Given the description of an element on the screen output the (x, y) to click on. 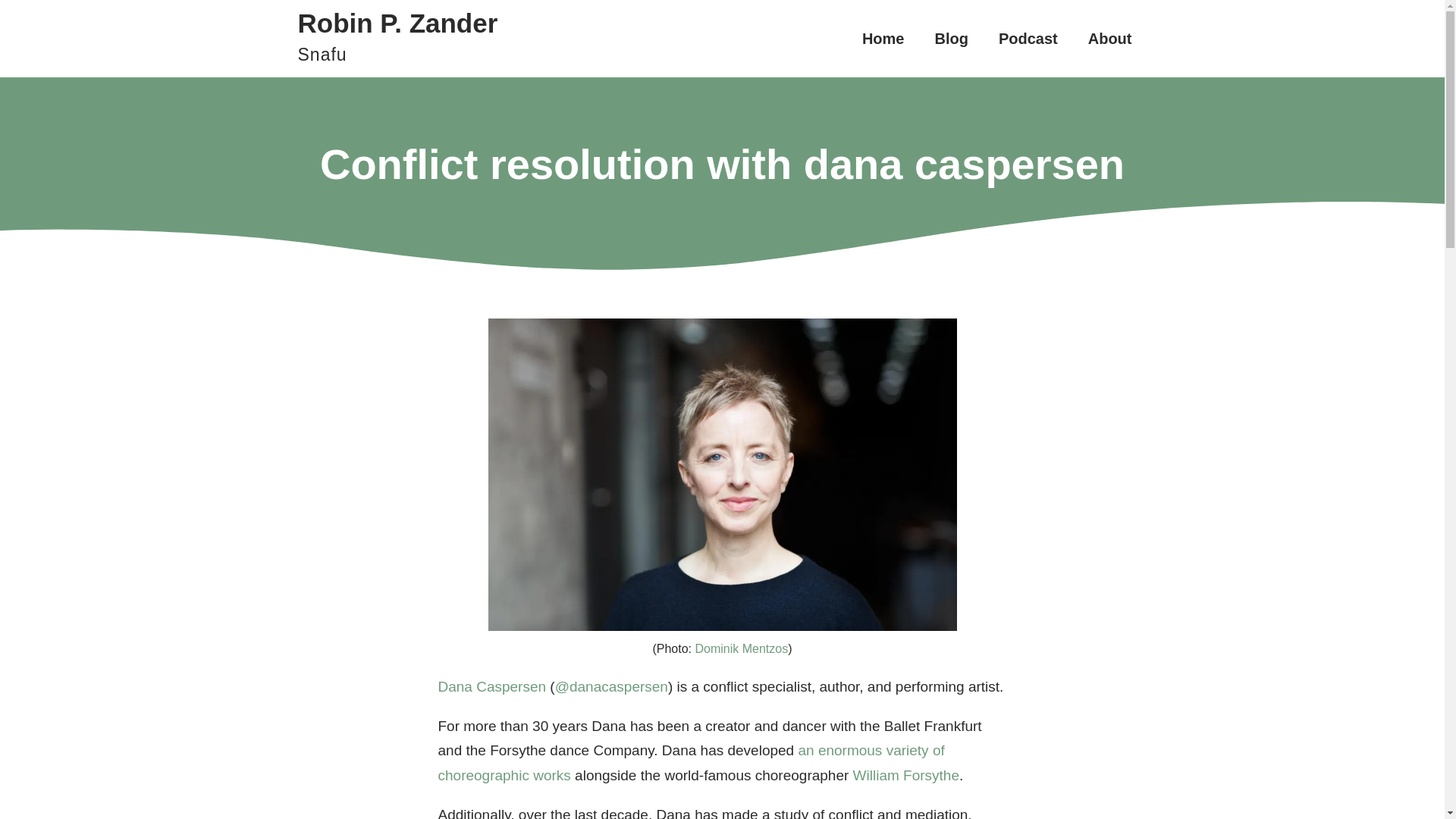
Blog (950, 38)
Dominik Mentzos (740, 648)
About (1110, 38)
Podcast (1028, 38)
William Forsythe (397, 43)
Home (906, 774)
Dana Caspersen (883, 38)
an enormous variety of choreographic works (492, 686)
